Given the description of an element on the screen output the (x, y) to click on. 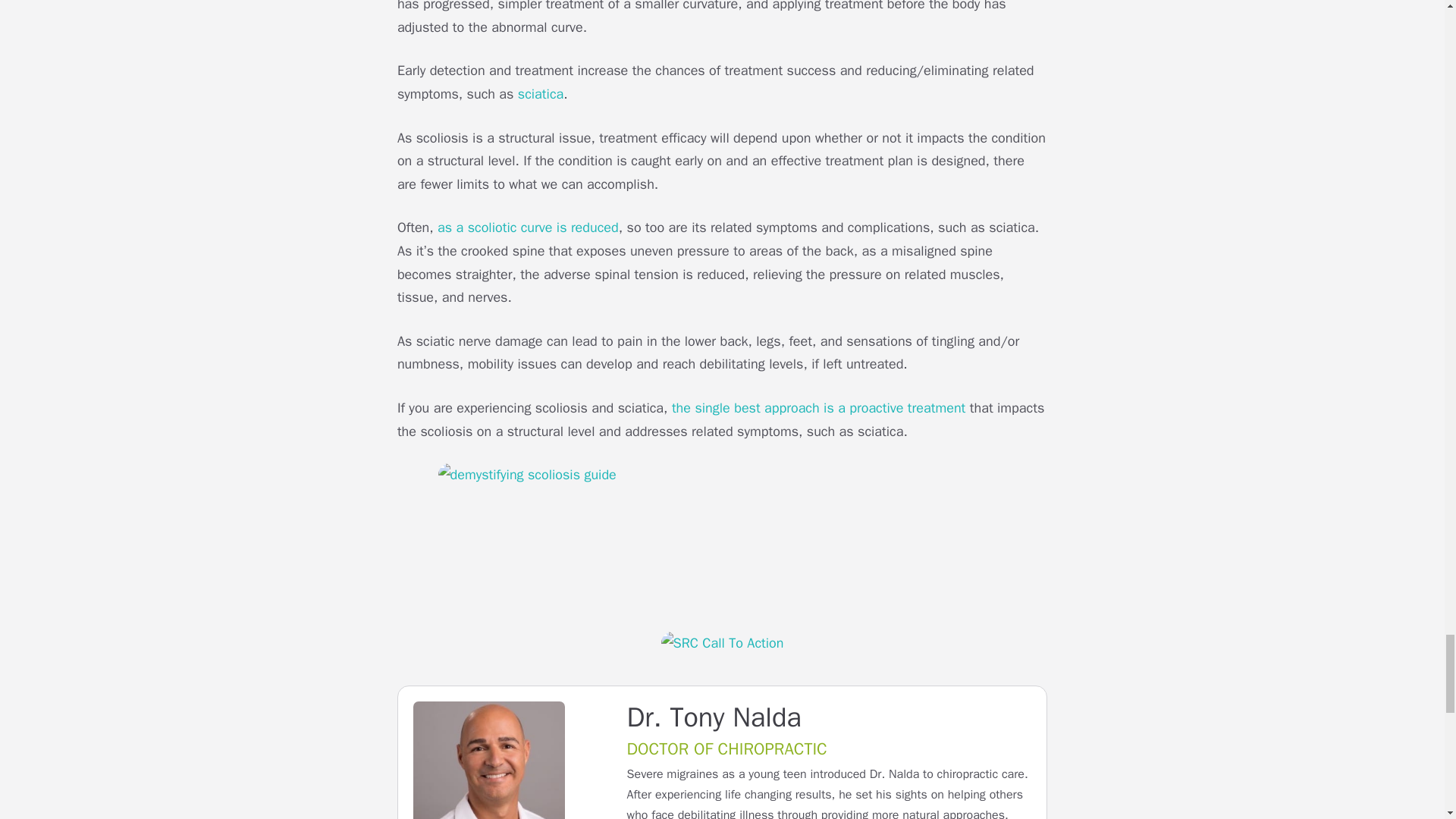
demystifying scoliosis guide (722, 535)
Dr-Tony-Nalda-3 (488, 760)
SRC Call To Action 1 (722, 643)
